Given the description of an element on the screen output the (x, y) to click on. 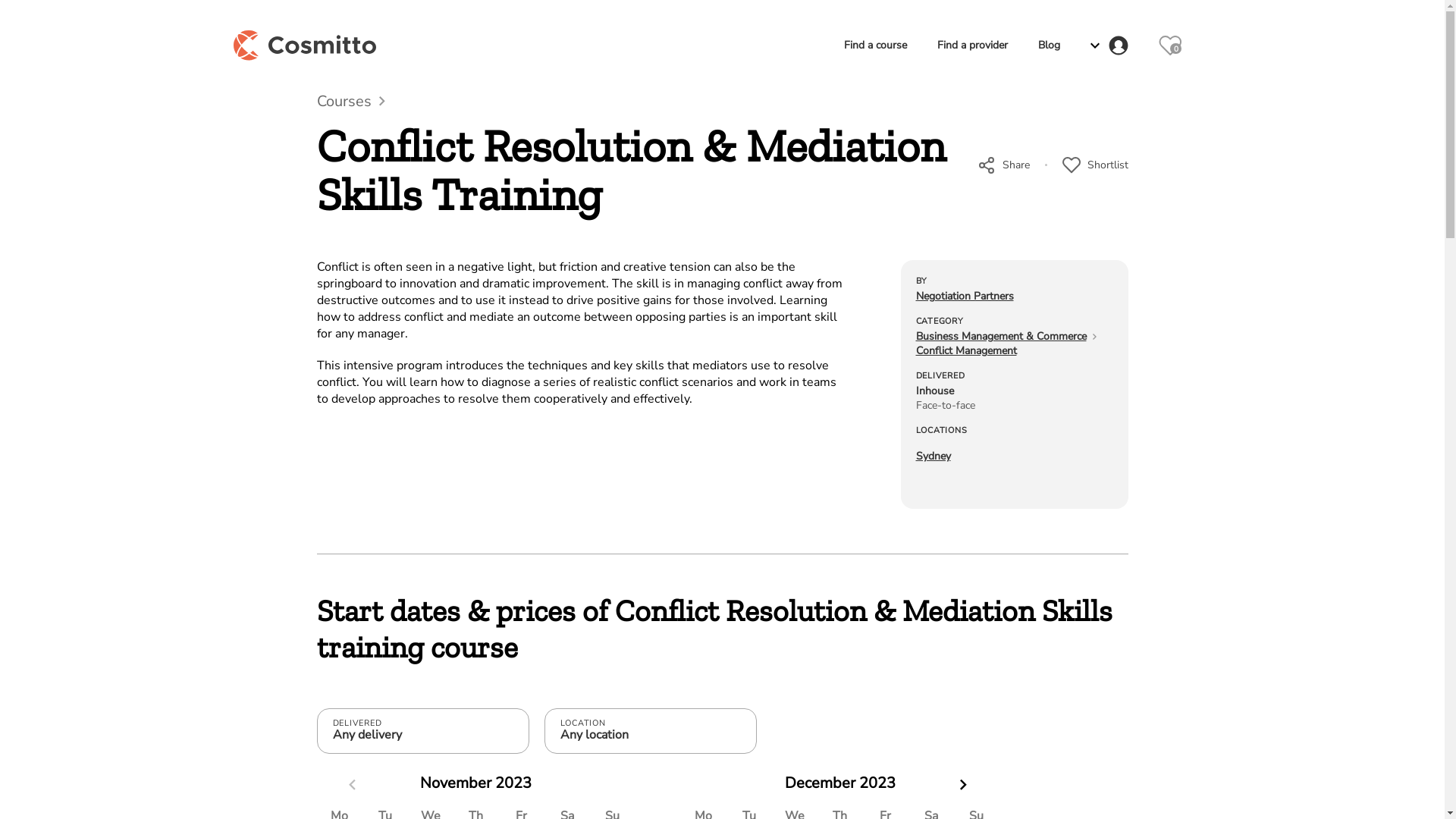
Business Management & Commerce Element type: text (1001, 336)
Shortlist Element type: text (1094, 165)
Sydney Element type: text (933, 455)
Courses Element type: text (350, 101)
Conflict Management Element type: text (966, 350)
Find a provider Element type: text (972, 45)
0 Element type: text (1169, 45)
Blog Element type: text (1048, 45)
> Element type: text (963, 783)
Negotiation Partners Element type: text (964, 295)
Find a course Element type: text (874, 45)
< Element type: text (352, 783)
